Given the description of an element on the screen output the (x, y) to click on. 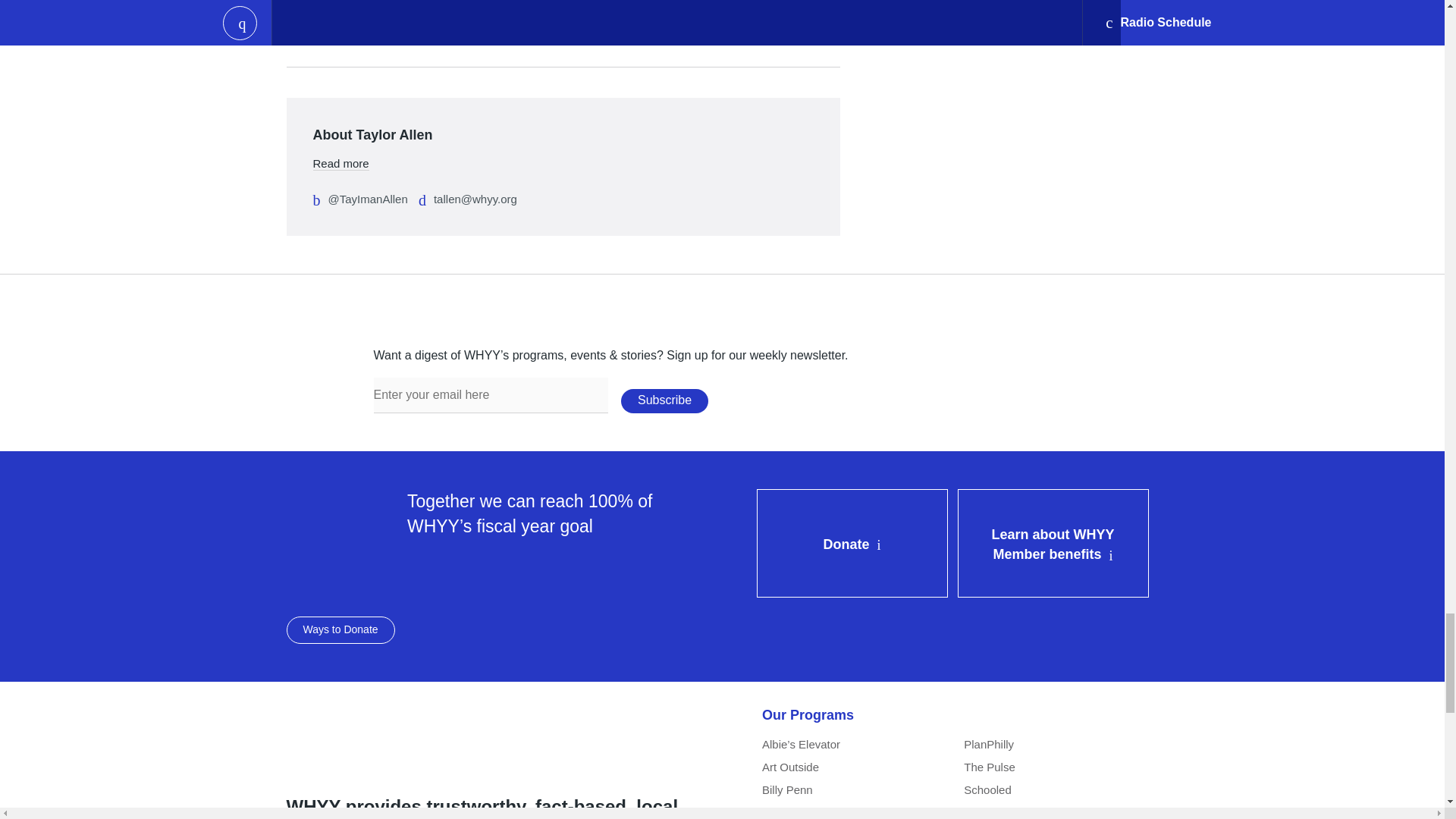
Subscribe (664, 401)
